Given the description of an element on the screen output the (x, y) to click on. 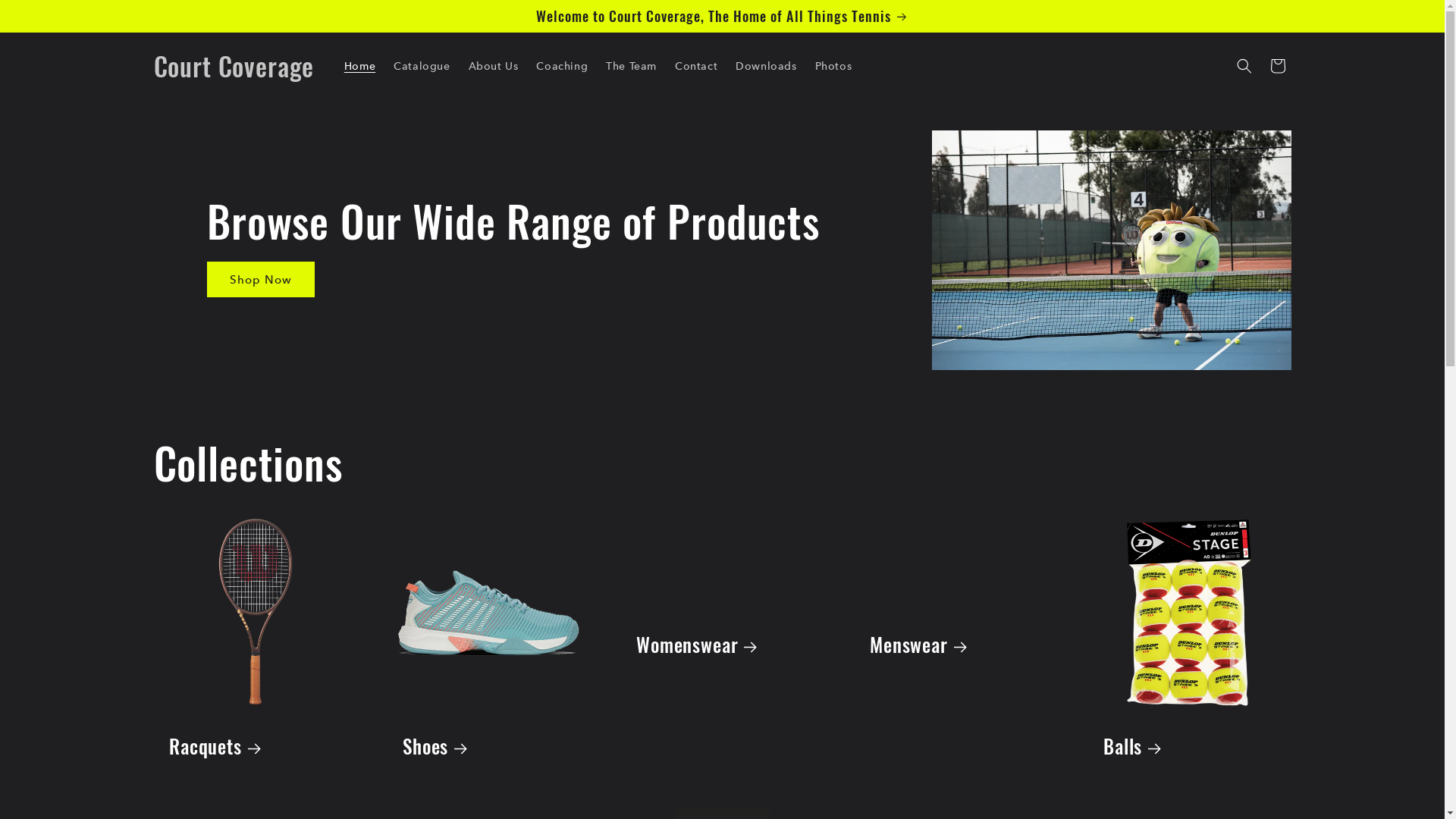
Racquets Element type: text (254, 746)
Shoes Element type: text (487, 746)
Catalogue Element type: text (421, 65)
Menswear Element type: text (955, 644)
About Us Element type: text (493, 65)
The Team Element type: text (630, 65)
Coaching Element type: text (561, 65)
Home Element type: text (359, 65)
Balls Element type: text (1188, 746)
Womenswear Element type: text (721, 644)
Contact Element type: text (695, 65)
Court Coverage Element type: text (233, 65)
Shop Now Element type: text (259, 279)
Welcome to Court Coverage, The Home of All Things Tennis Element type: text (721, 15)
Photos Element type: text (833, 65)
Cart Element type: text (1276, 65)
Downloads Element type: text (765, 65)
